Given the description of an element on the screen output the (x, y) to click on. 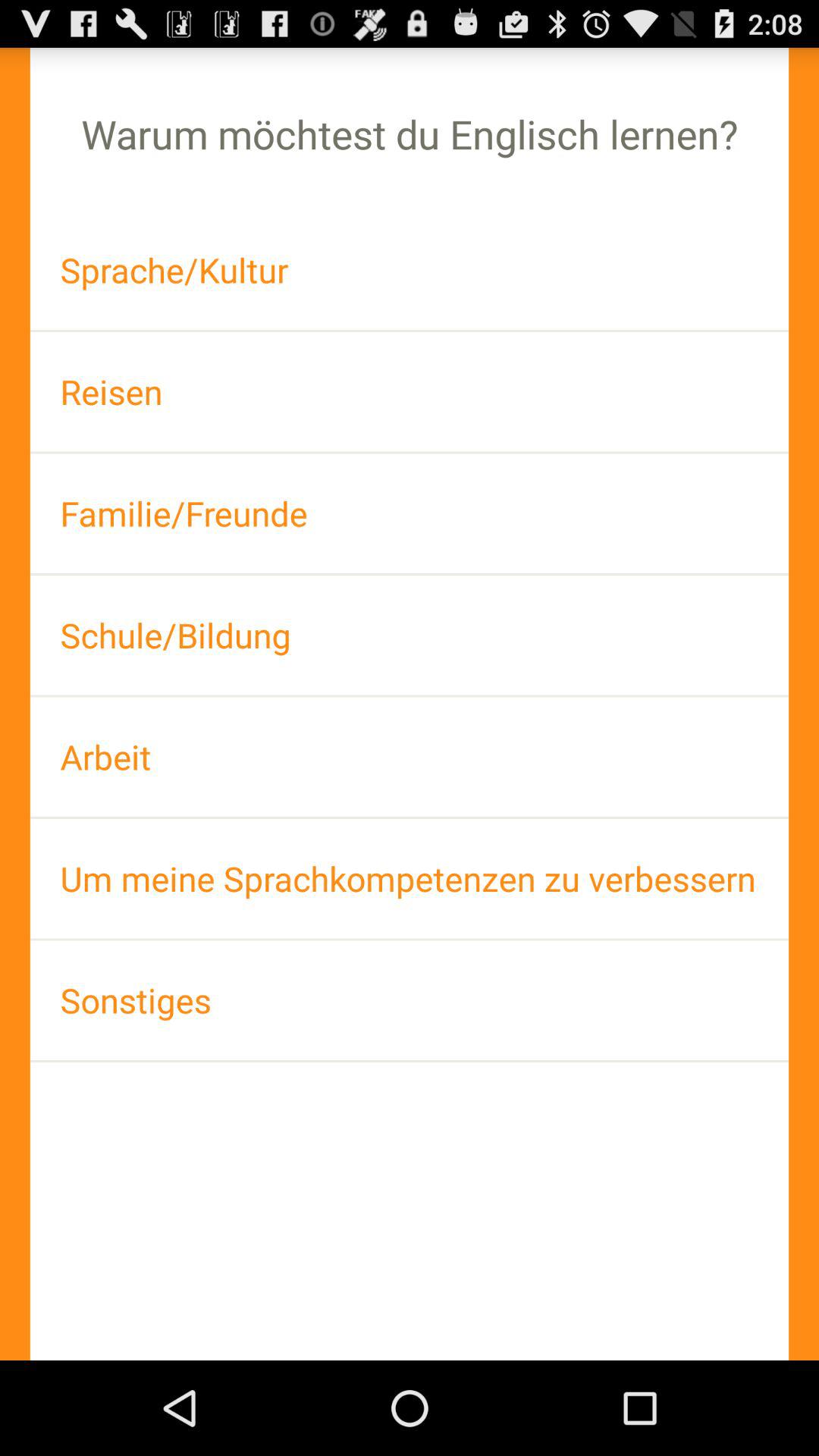
choose the um meine sprachkompetenzen (409, 878)
